Given the description of an element on the screen output the (x, y) to click on. 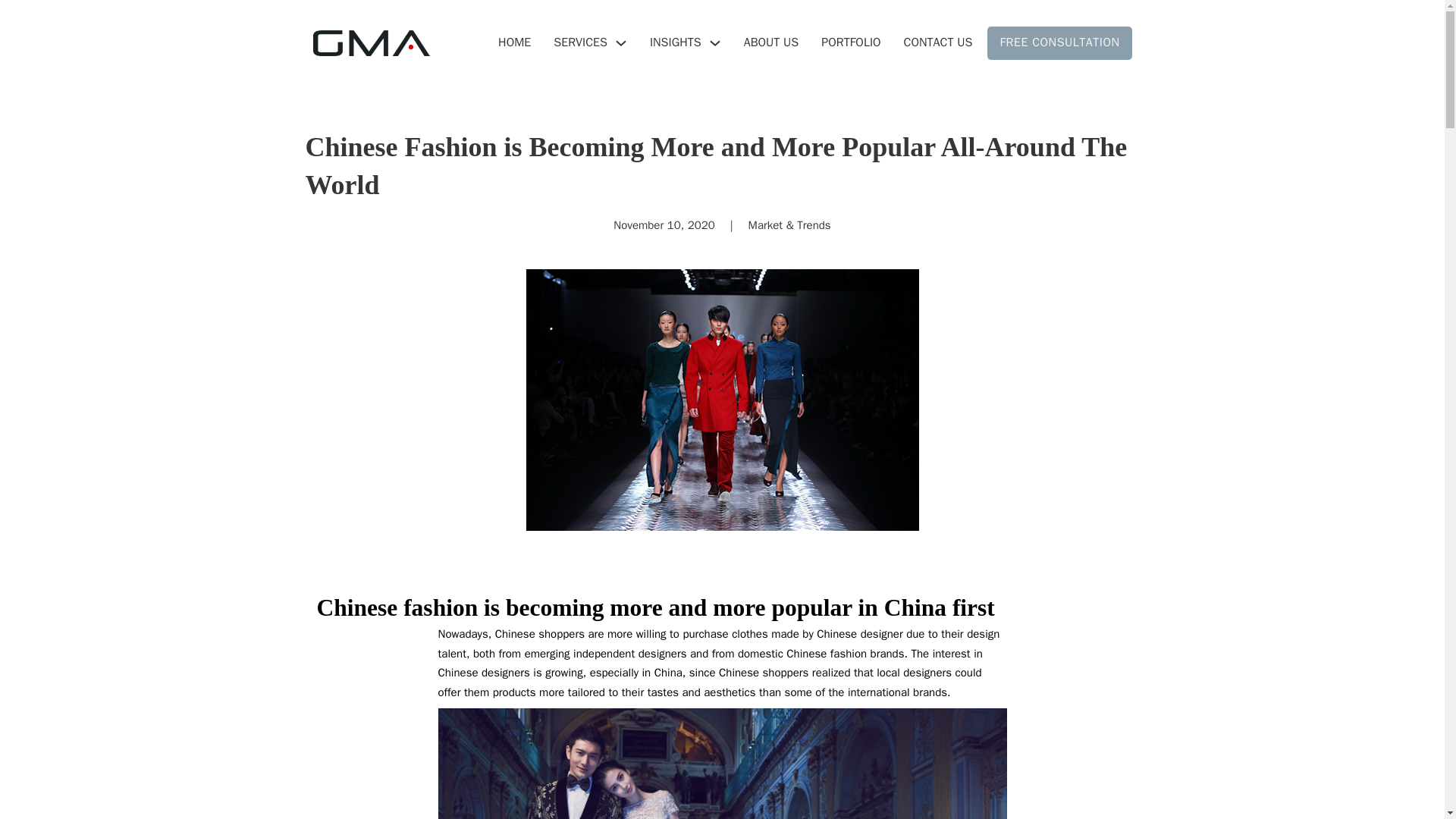
HOME (514, 42)
INSIGHTS (675, 42)
Home (514, 42)
SERVICES (580, 42)
the Agency (771, 42)
